Given the description of an element on the screen output the (x, y) to click on. 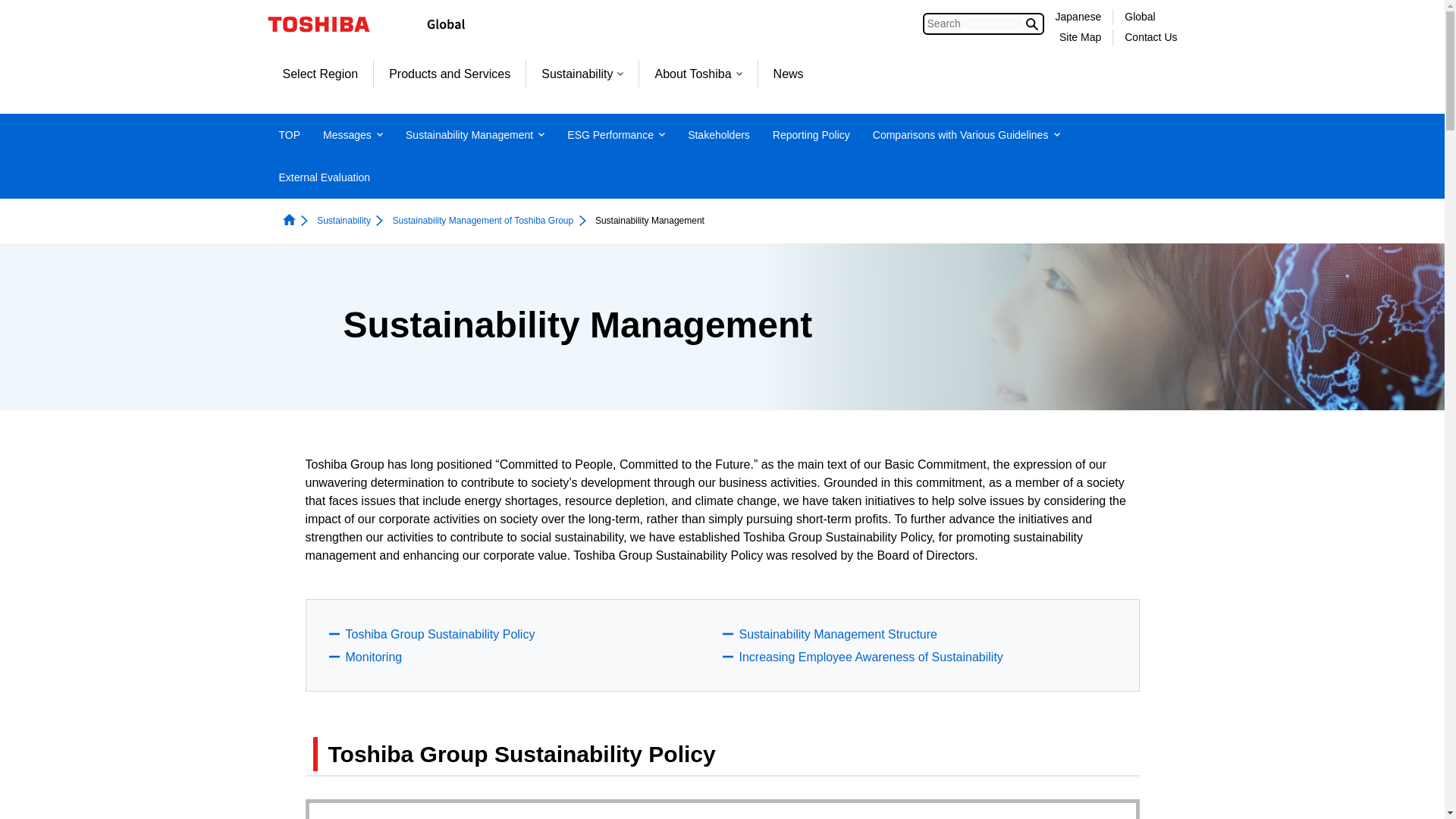
Japanese (1078, 16)
Site Map (1079, 37)
Contact Us (1150, 37)
Search (975, 23)
Toshiba Global Top Page (327, 24)
Site Map (1079, 37)
Global (1139, 16)
Global (1139, 16)
Contact Us (1150, 37)
Japanese (1078, 16)
